Given the description of an element on the screen output the (x, y) to click on. 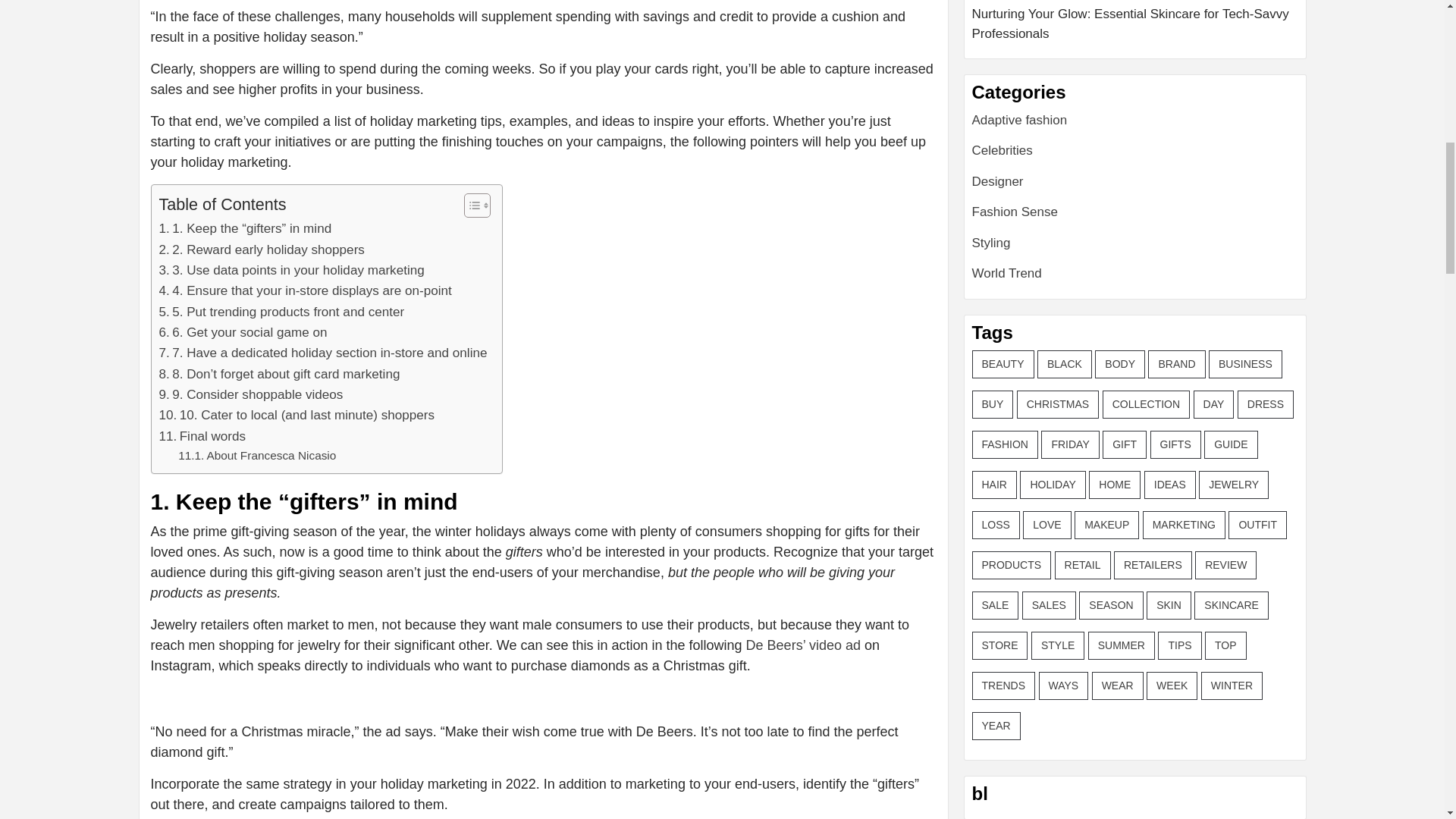
5. Put trending products front and center (281, 312)
7. Have a dedicated holiday section in-store and online (322, 353)
5. Put trending products front and center (281, 312)
9. Consider shoppable videos (250, 394)
4. Ensure that your in-store displays are on-point (304, 290)
About Francesca Nicasio (256, 456)
7. Have a dedicated holiday section in-store and online (322, 353)
About Francesca Nicasio (256, 456)
6. Get your social game on (242, 332)
